Given the description of an element on the screen output the (x, y) to click on. 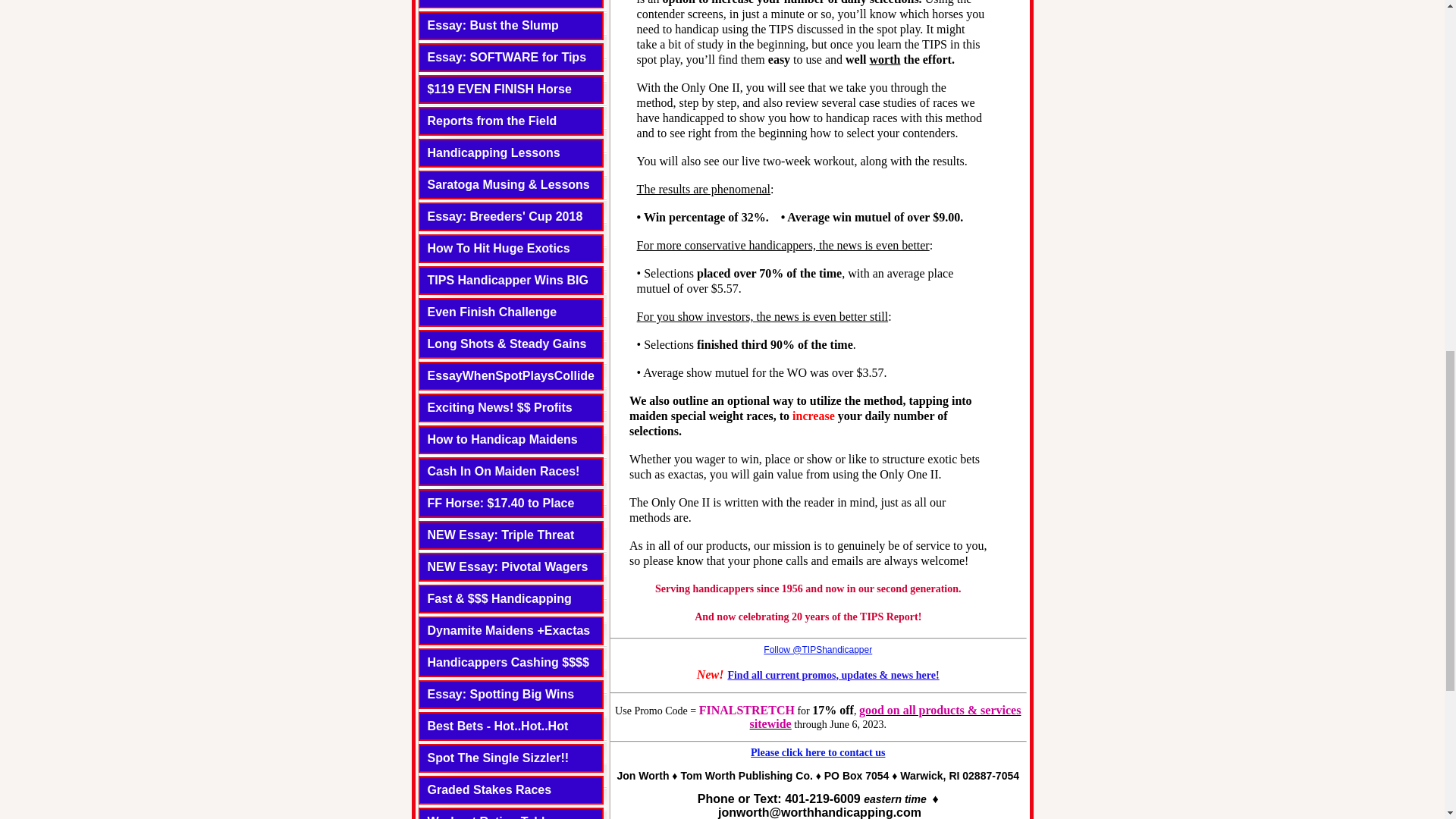
NEW Essay: Triple Threat (501, 534)
Reports from the Field (492, 120)
How To Hit Huge Exotics (499, 247)
TIPS Handicapper Wins BIG (508, 279)
Cash In On Maiden Races! (503, 471)
How to Handicap Maidens (503, 439)
Essay: Bust the Slump (493, 24)
EssayWhenSpotPlaysCollide (511, 375)
Handicapping Lessons (494, 152)
Essay: Breeders' Cup 2018 (505, 215)
Even Finish Challenge (492, 311)
Essay: SOFTWARE for Tips (507, 56)
